Given the description of an element on the screen output the (x, y) to click on. 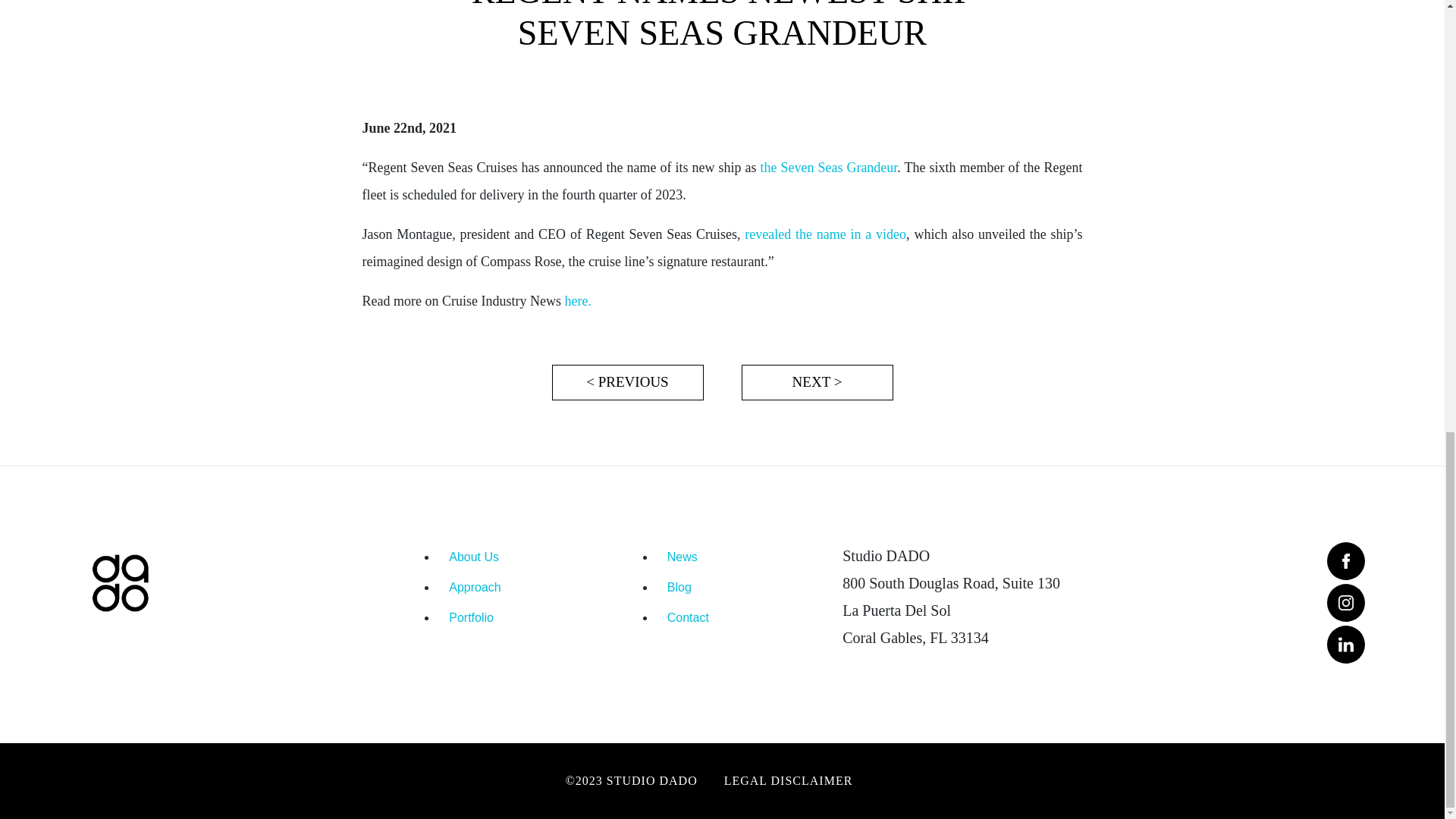
LEGAL DISCLAIMER (801, 780)
Approach (519, 587)
About Us (519, 557)
News (738, 557)
the Seven Seas Grandeur (828, 167)
Portfolio (519, 617)
Blog (738, 587)
revealed the name in a video (824, 233)
here. (577, 300)
Contact (738, 617)
